Given the description of an element on the screen output the (x, y) to click on. 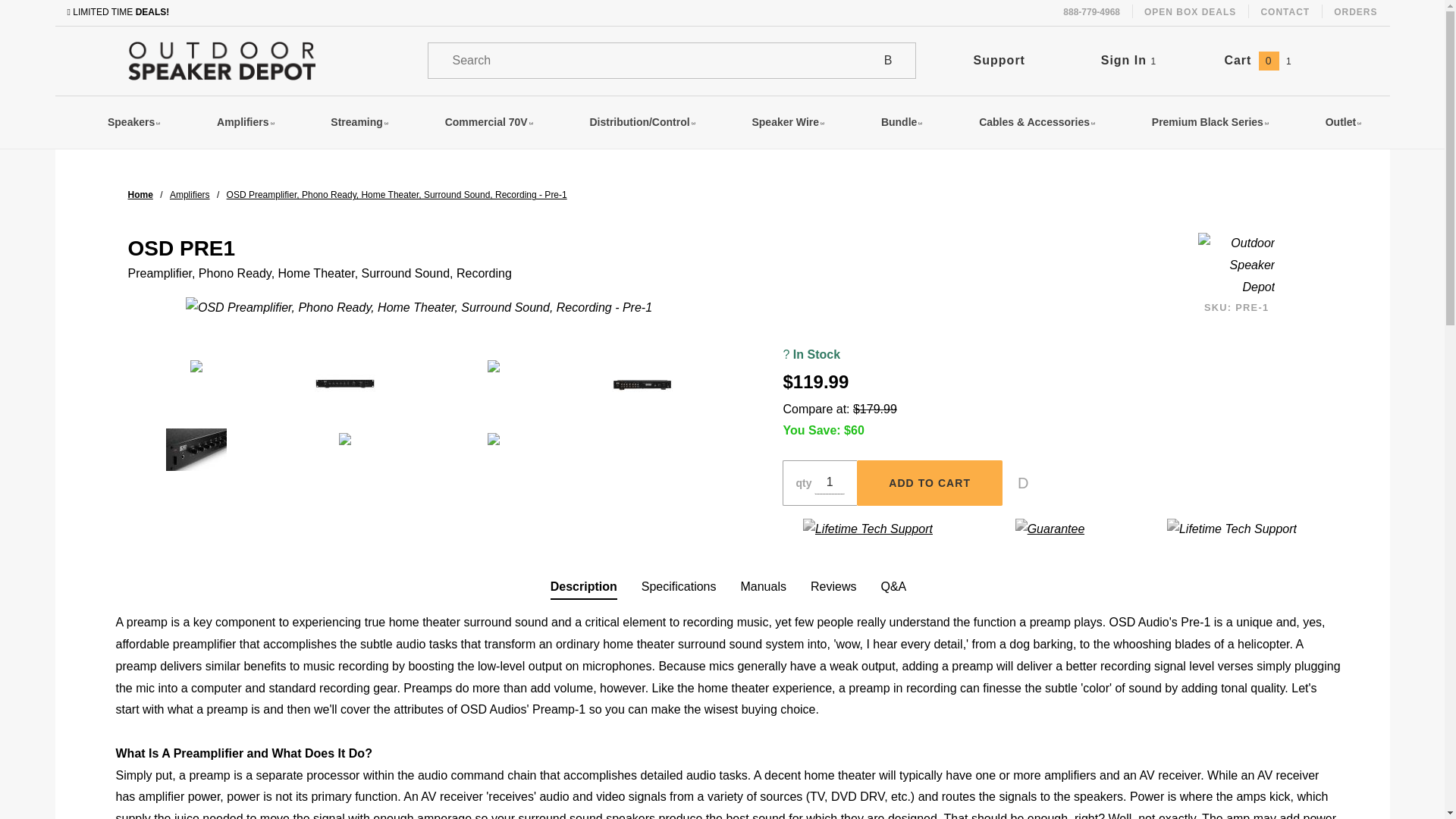
Support (999, 60)
Amplifiers (245, 122)
ORDERS (1355, 12)
Sign In (1128, 60)
Speakers (132, 122)
Amplifiers (189, 194)
Orders (1355, 12)
Sign In (1192, 105)
Lifetime Tech Support (1232, 529)
Home (140, 194)
